Given the description of an element on the screen output the (x, y) to click on. 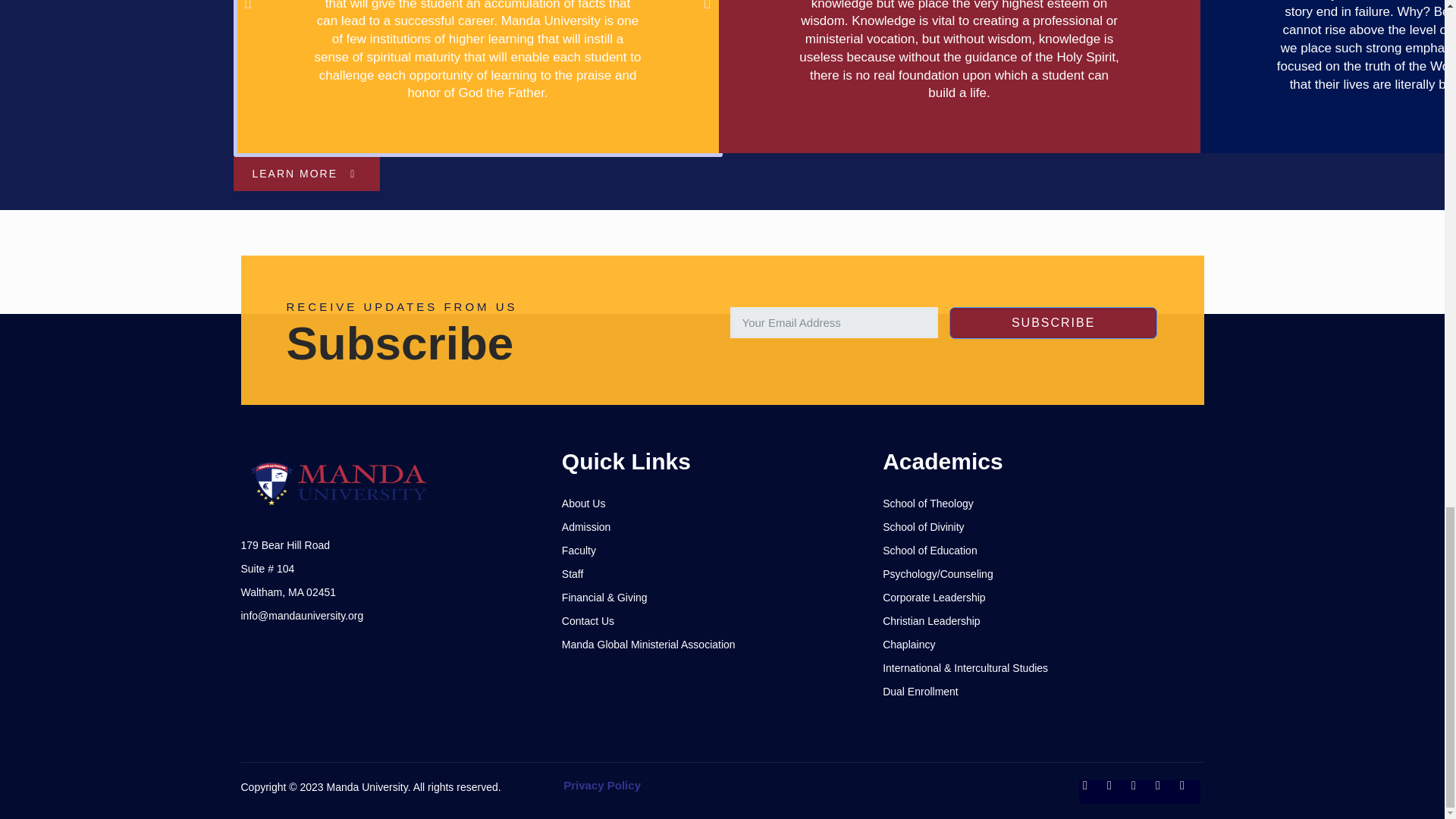
Admission (722, 527)
LEARN MORE (306, 173)
SUBSCRIBE (1053, 323)
About Us (722, 503)
Faculty (722, 550)
Staff (722, 574)
